Given the description of an element on the screen output the (x, y) to click on. 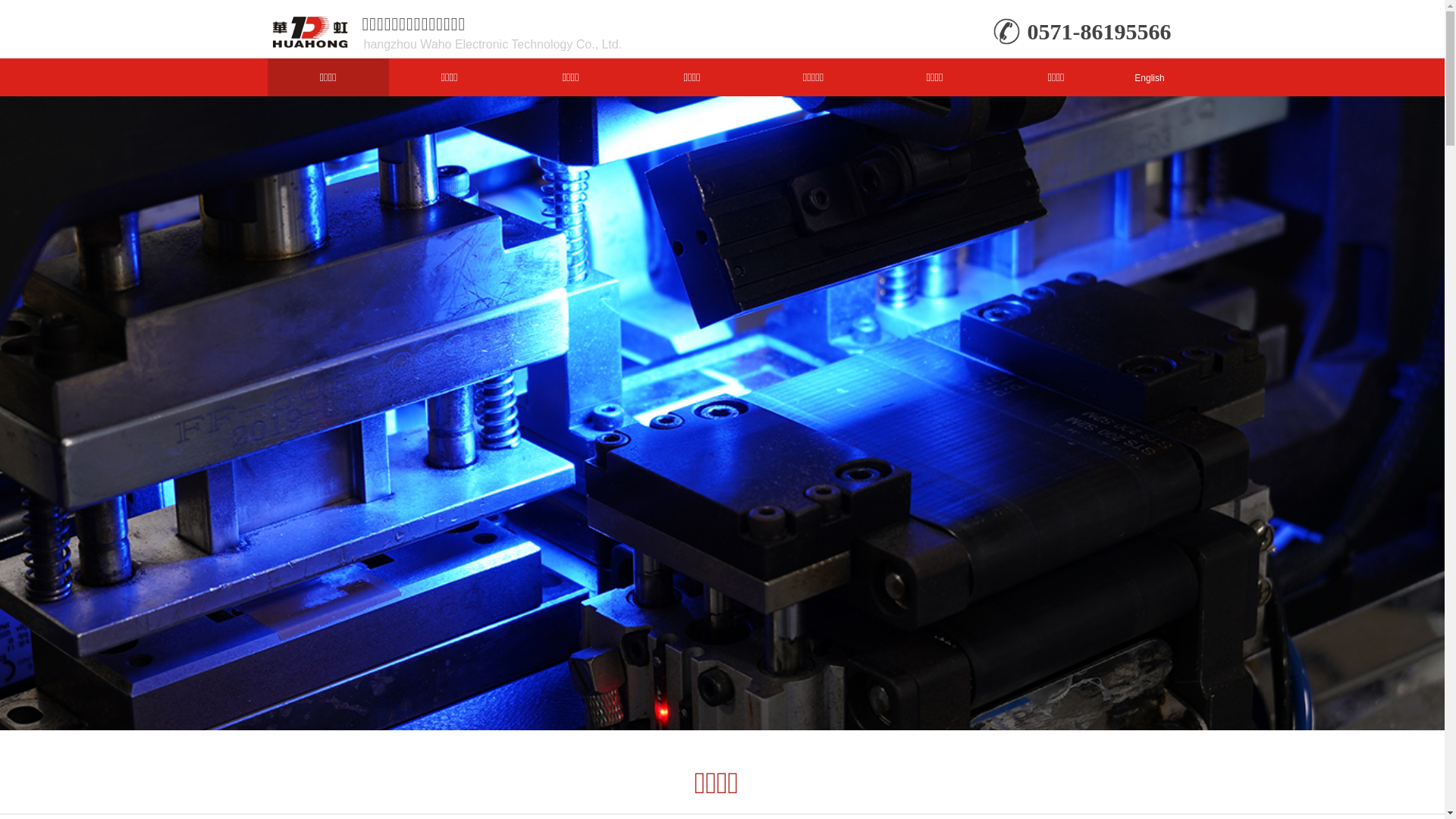
English Element type: text (1151, 77)
